Given the description of an element on the screen output the (x, y) to click on. 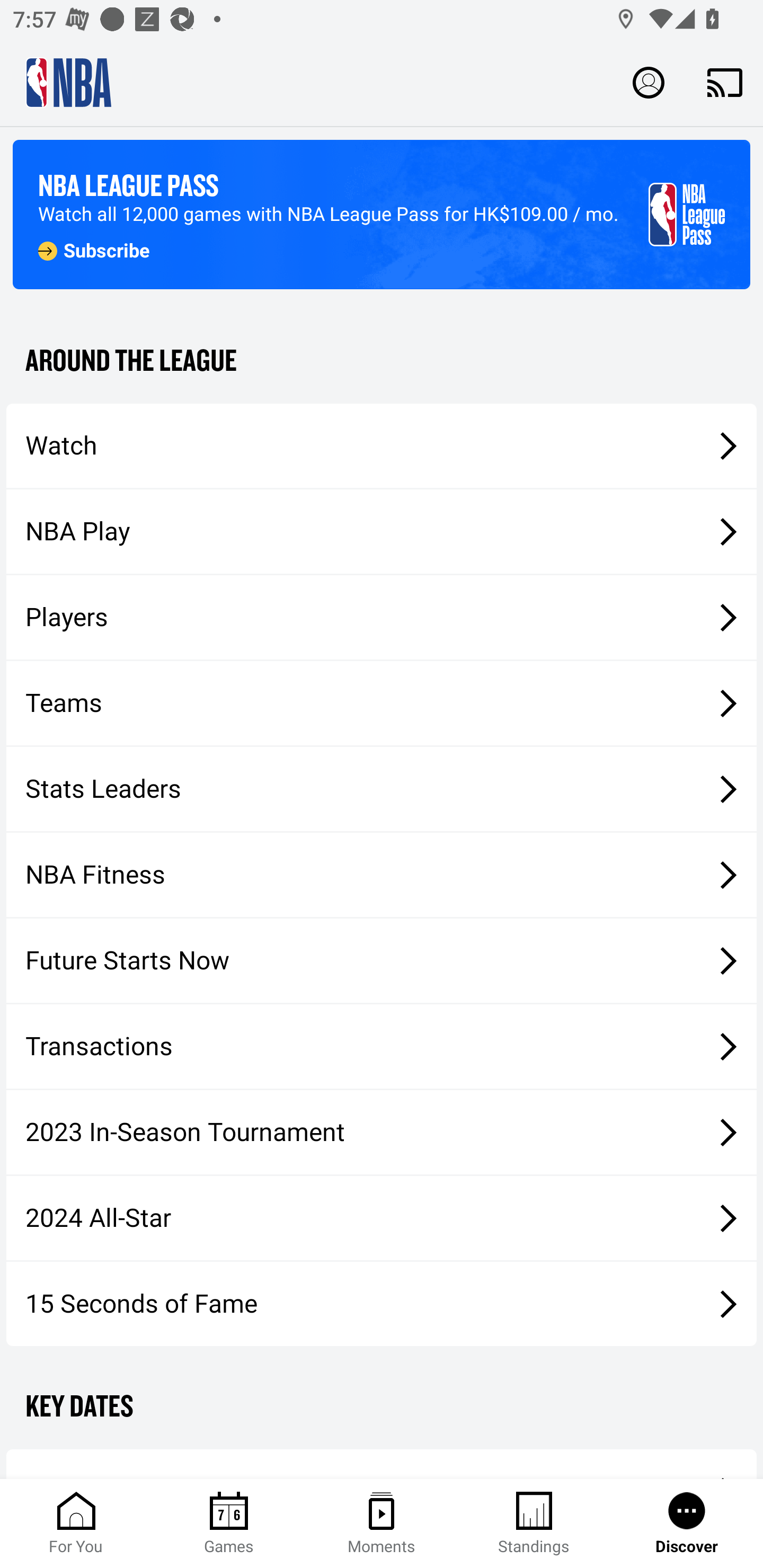
Cast. Disconnected (724, 82)
Profile (648, 81)
Watch (381, 444)
NBA Play (381, 531)
Players (381, 617)
Teams (381, 702)
Stats Leaders (381, 788)
NBA Fitness (381, 874)
Future Starts Now (381, 960)
Transactions (381, 1046)
2023 In-Season Tournament (381, 1131)
2024 All-Star (381, 1218)
15 Seconds of Fame (381, 1303)
For You (76, 1523)
Games (228, 1523)
Moments (381, 1523)
Standings (533, 1523)
